Given the description of an element on the screen output the (x, y) to click on. 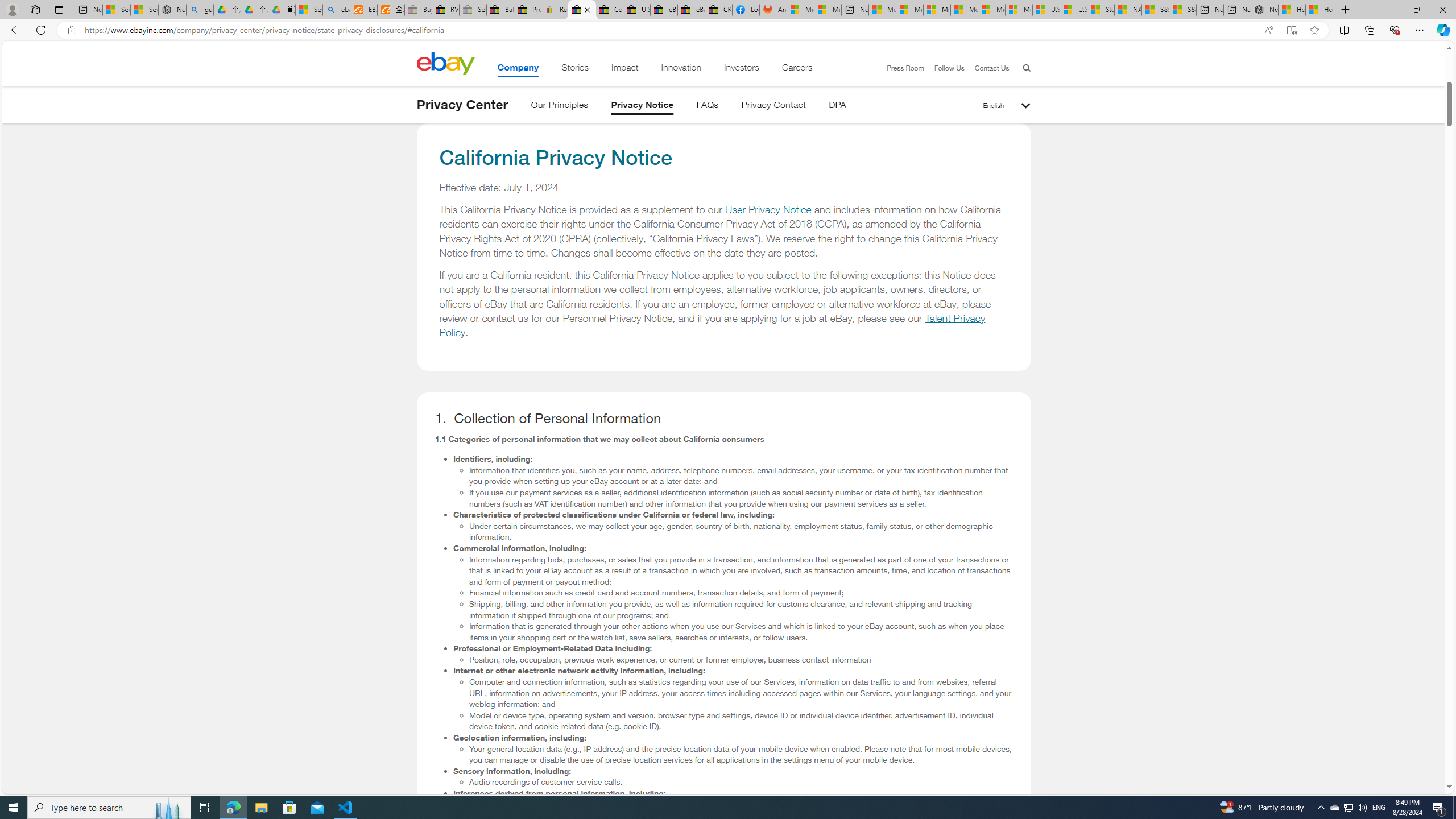
eBay Inc. Reports Third Quarter 2023 Results (691, 9)
Log into Facebook (746, 9)
User Privacy Notice (767, 209)
Our Principles (558, 107)
Talent Privacy Policy (712, 325)
